Given the description of an element on the screen output the (x, y) to click on. 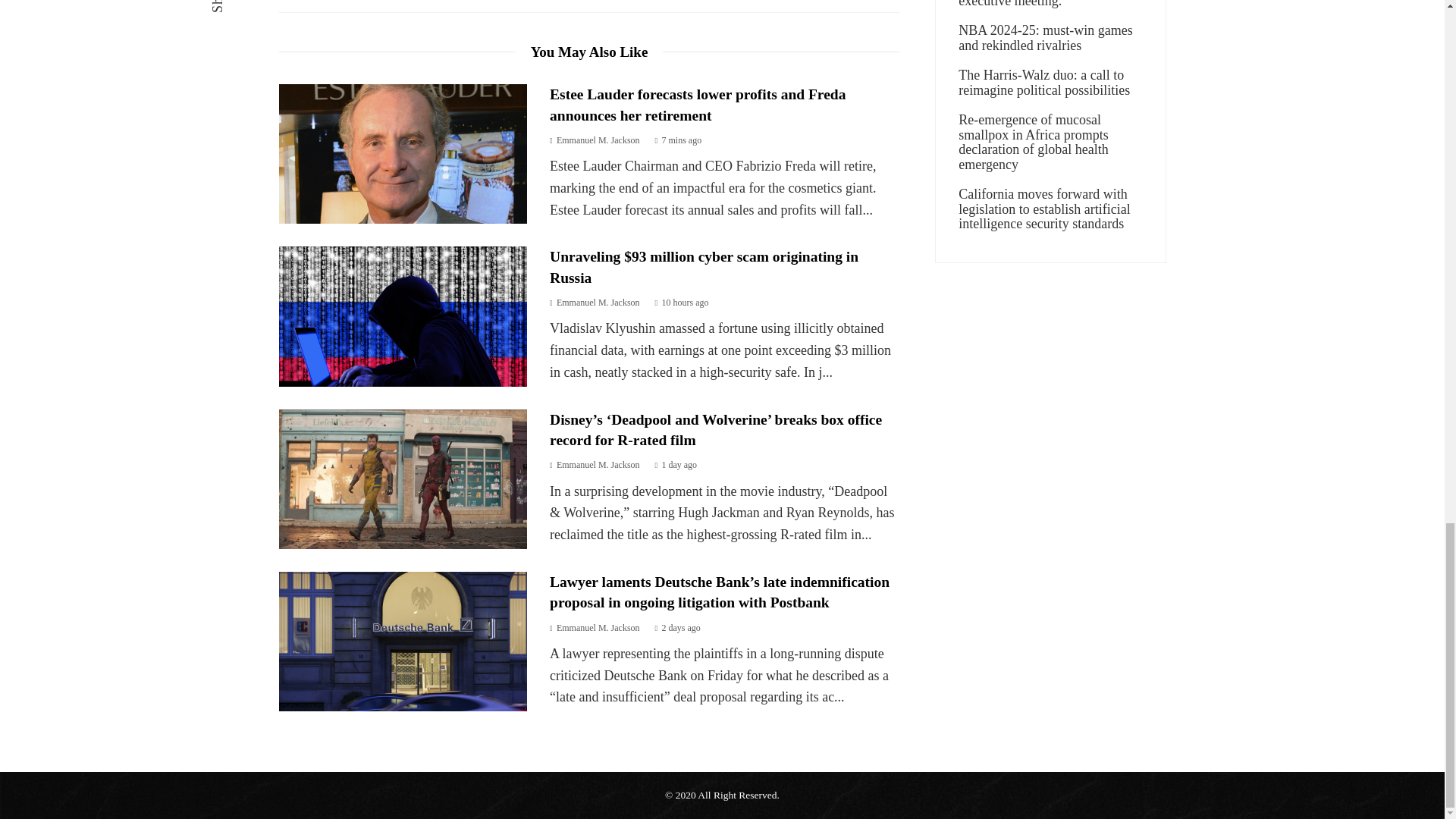
Unraveling  million cyber scam originating in Russia (403, 315)
